Given the description of an element on the screen output the (x, y) to click on. 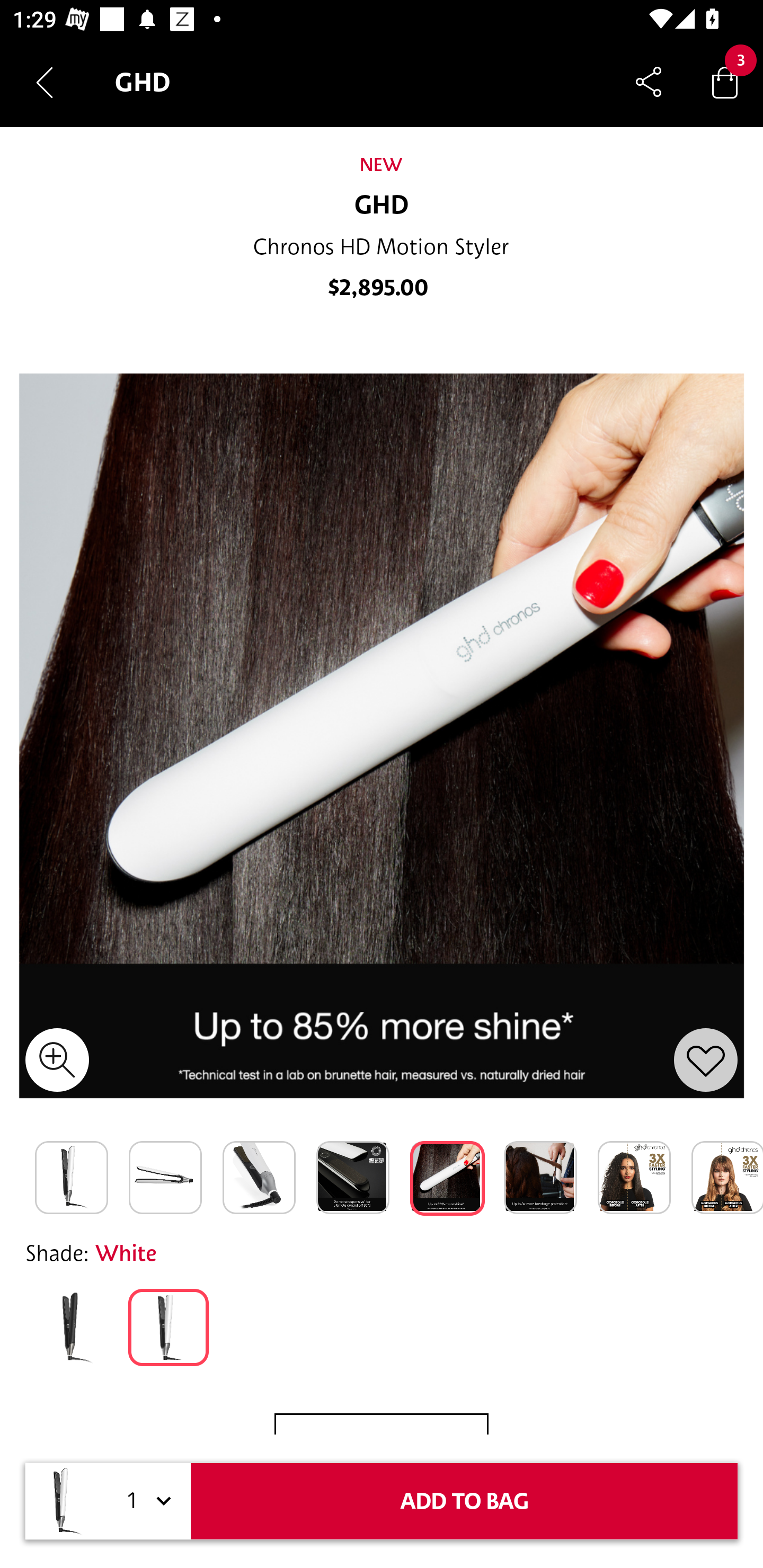
Navigate up (44, 82)
Share (648, 81)
Bag (724, 81)
GHD (381, 205)
1 (145, 1500)
ADD TO BAG (463, 1500)
